Given the description of an element on the screen output the (x, y) to click on. 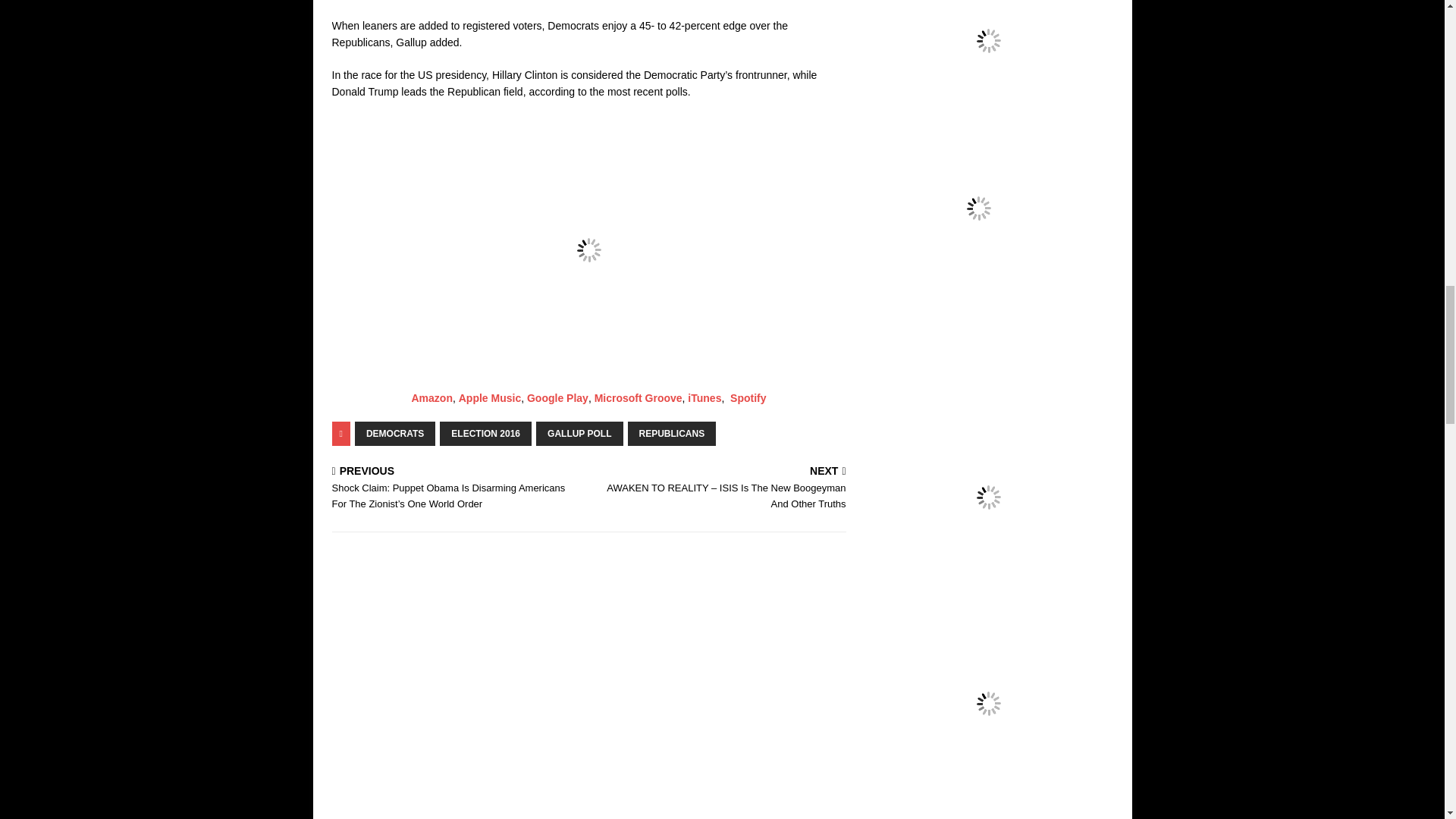
Spotify (747, 398)
Microsoft Groove (638, 398)
DEMOCRATS (395, 433)
GALLUP POLL (579, 433)
Apple Music (489, 398)
REPUBLICANS (671, 433)
iTunes (703, 398)
Google Play (557, 398)
Amazon (430, 398)
ELECTION 2016 (485, 433)
